Given the description of an element on the screen output the (x, y) to click on. 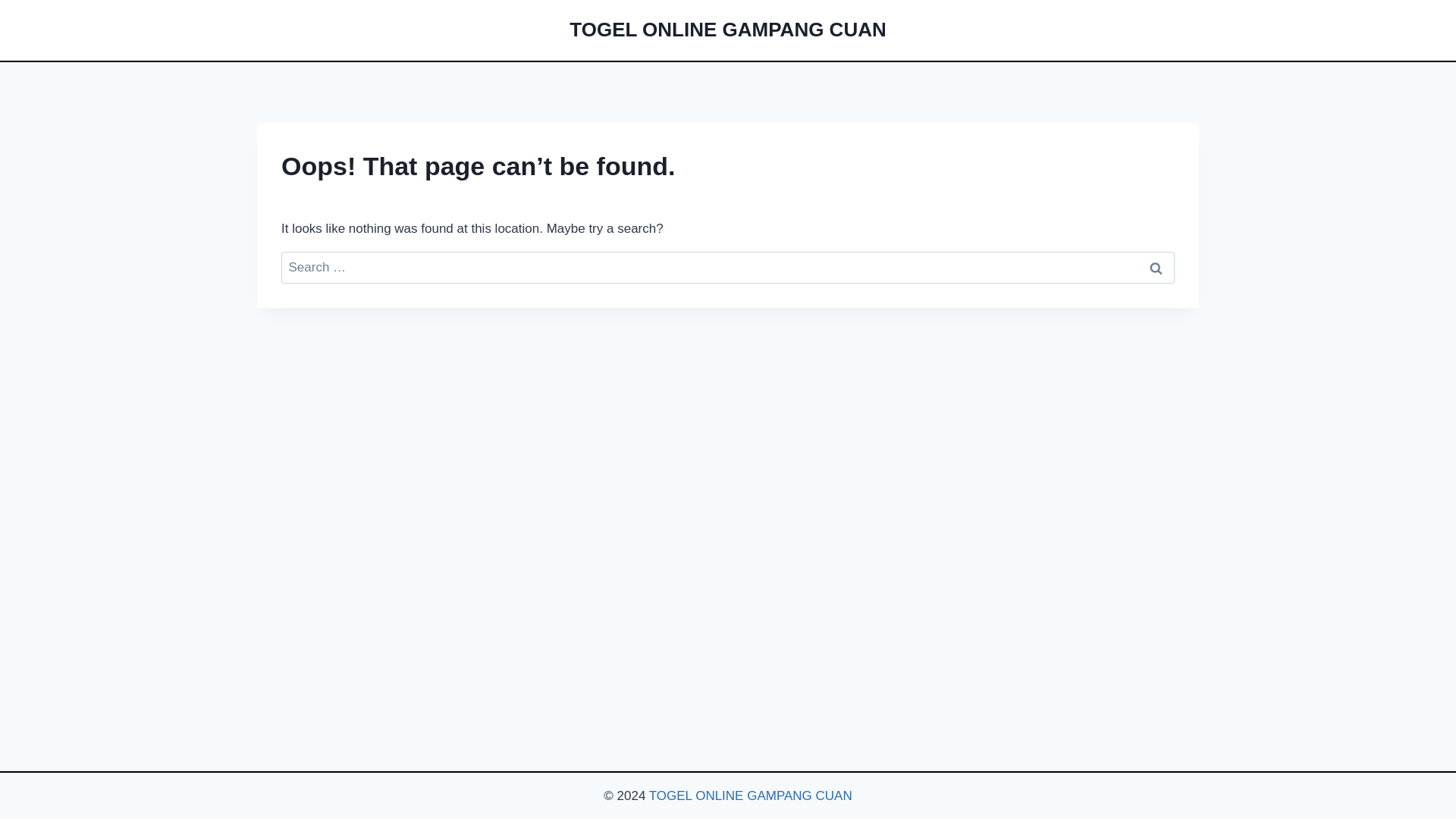
TOGEL ONLINE GAMPANG CUAN (750, 795)
Search (1155, 267)
Search (1155, 267)
Search (1155, 267)
TOGEL ONLINE GAMPANG CUAN (727, 29)
